Given the description of an element on the screen output the (x, y) to click on. 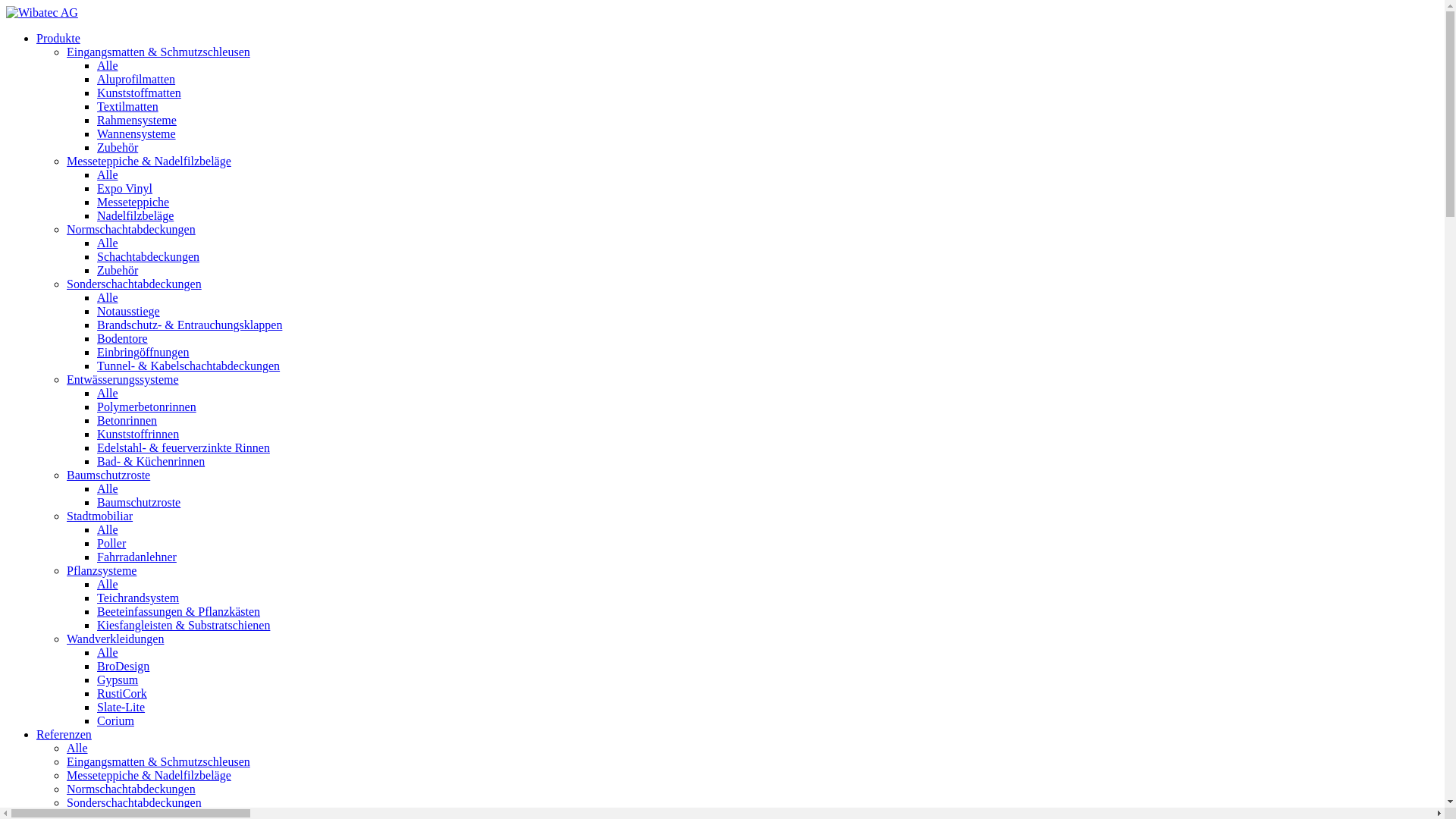
Baumschutzroste Element type: text (108, 474)
Gypsum Element type: text (117, 679)
Alle Element type: text (107, 529)
Corium Element type: text (115, 720)
Rahmensysteme Element type: text (136, 119)
Produkte Element type: text (58, 37)
Alle Element type: text (107, 392)
Messeteppiche Element type: text (133, 201)
Brandschutz- & Entrauchungsklappen Element type: text (189, 324)
Alle Element type: text (76, 747)
Wandverkleidungen Element type: text (114, 638)
Normschachtabdeckungen Element type: text (130, 788)
Alle Element type: text (107, 652)
Alle Element type: text (107, 174)
Teichrandsystem Element type: text (137, 597)
BroDesign Element type: text (123, 665)
Poller Element type: text (111, 542)
Bodentore Element type: text (122, 338)
Notausstiege Element type: text (128, 310)
Sonderschachtabdeckungen Element type: text (133, 802)
Textilmatten Element type: text (127, 106)
Sonderschachtabdeckungen Element type: text (133, 283)
Alle Element type: text (107, 297)
RustiCork Element type: text (122, 693)
Aluprofilmatten Element type: text (136, 78)
Normschachtabdeckungen Element type: text (130, 228)
Betonrinnen Element type: text (126, 420)
Schachtabdeckungen Element type: text (148, 256)
Kunststoffmatten Element type: text (139, 92)
Kiesfangleisten & Substratschienen Element type: text (183, 624)
Alle Element type: text (107, 65)
Fahrradanlehner Element type: text (136, 556)
Referenzen Element type: text (63, 734)
Expo Vinyl Element type: text (124, 188)
Alle Element type: text (107, 488)
Wannensysteme Element type: text (136, 133)
Pflanzsysteme Element type: text (101, 570)
Edelstahl- & feuerverzinkte Rinnen Element type: text (183, 447)
Stadtmobiliar Element type: text (99, 515)
Baumschutzroste Element type: text (138, 501)
Alle Element type: text (107, 242)
Alle Element type: text (107, 583)
Slate-Lite Element type: text (120, 706)
Eingangsmatten & Schmutzschleusen Element type: text (158, 51)
Eingangsmatten & Schmutzschleusen Element type: text (158, 761)
Kunststoffrinnen Element type: text (137, 433)
Polymerbetonrinnen Element type: text (146, 406)
Tunnel- & Kabelschachtabdeckungen Element type: text (188, 365)
